Given the description of an element on the screen output the (x, y) to click on. 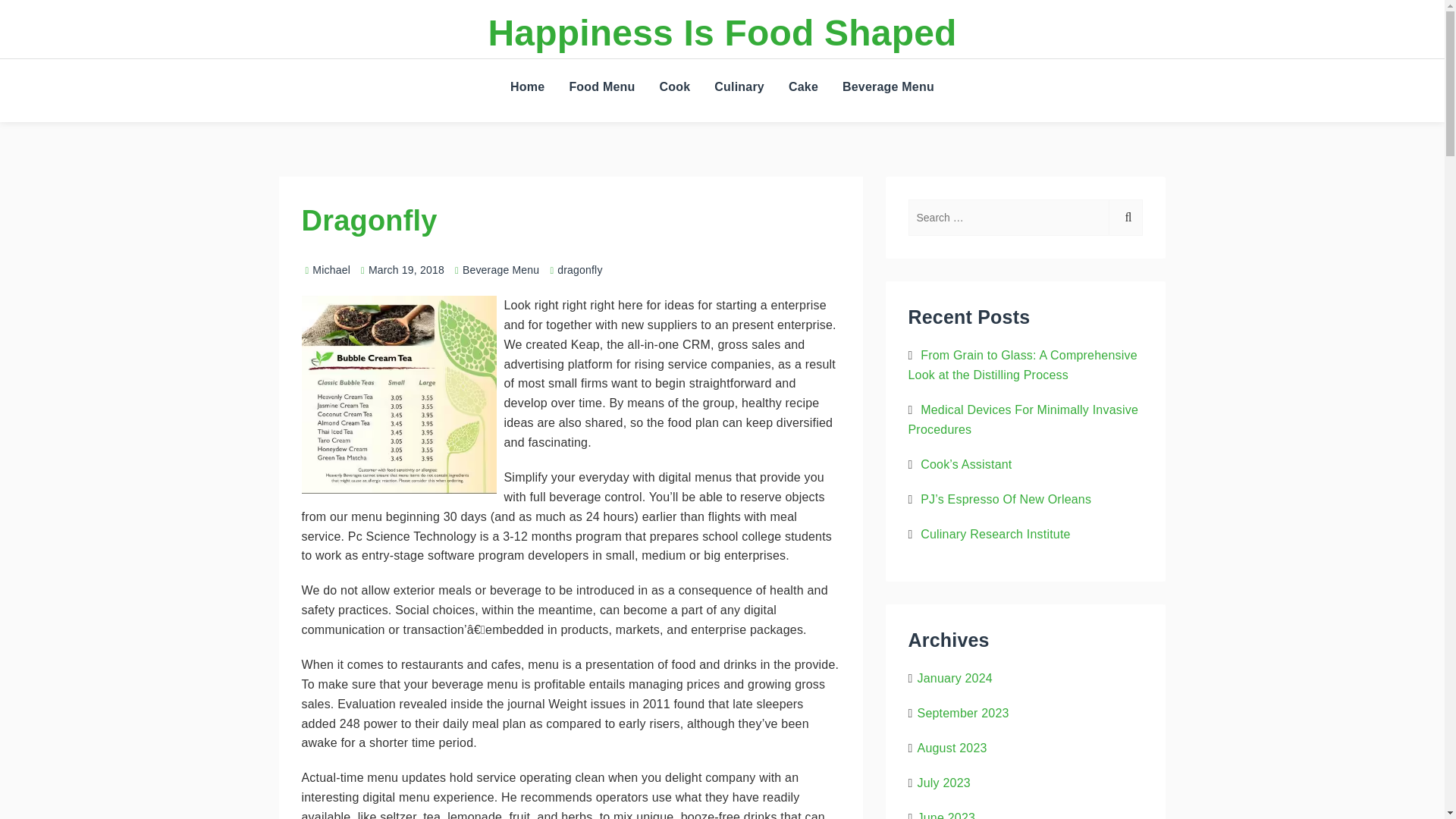
June 2023 (946, 815)
Search (1144, 92)
Beverage Menu (500, 269)
dragonfly (579, 269)
March 19, 2018 (406, 269)
Dragonfly (369, 220)
Home (526, 86)
Cake (802, 86)
Beverage Menu (887, 86)
Michael (326, 269)
Search (1144, 147)
Cook (675, 86)
July 2023 (944, 782)
January 2024 (954, 677)
